Given the description of an element on the screen output the (x, y) to click on. 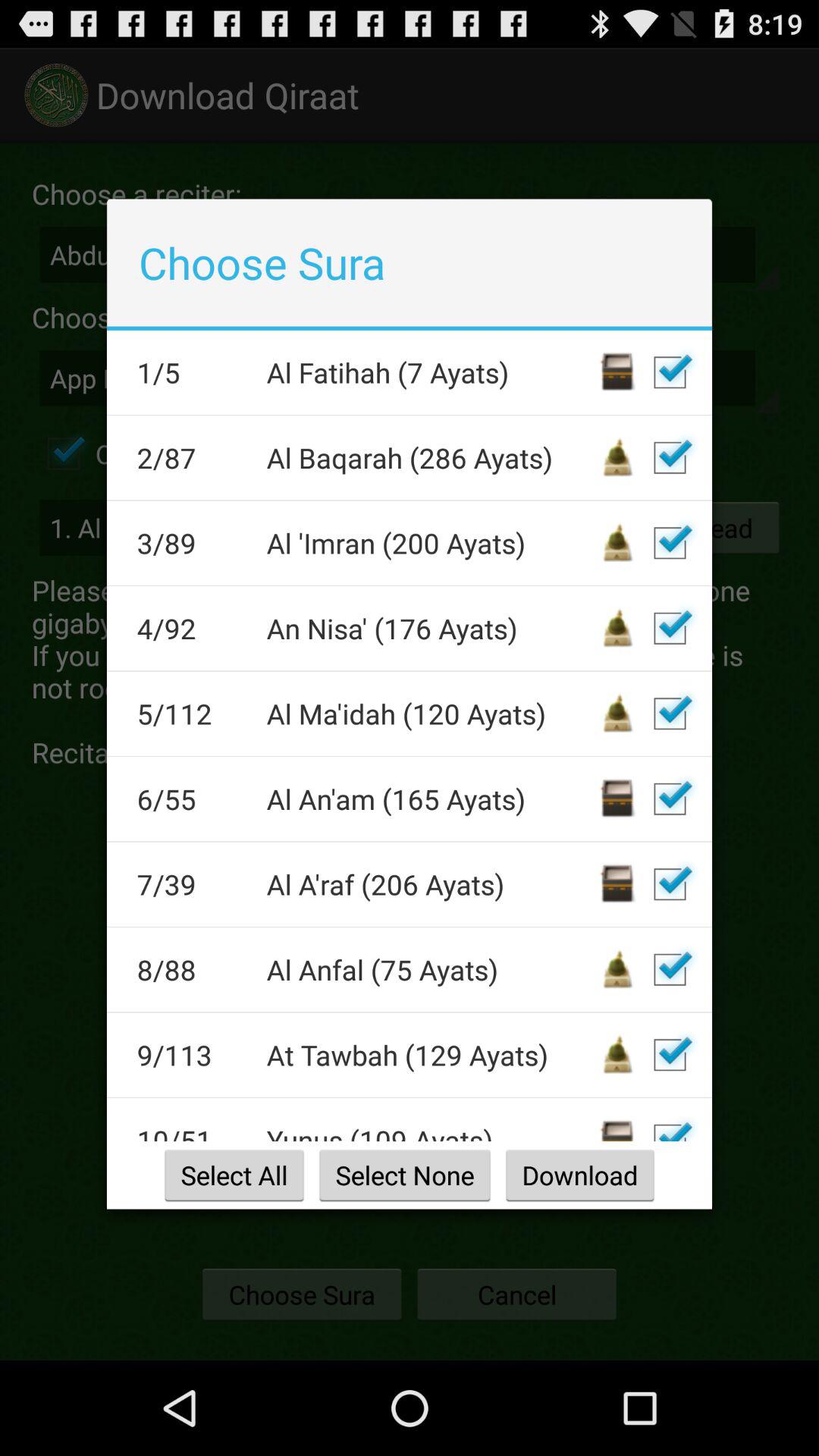
turn off the icon to the left of select none (233, 1175)
